Given the description of an element on the screen output the (x, y) to click on. 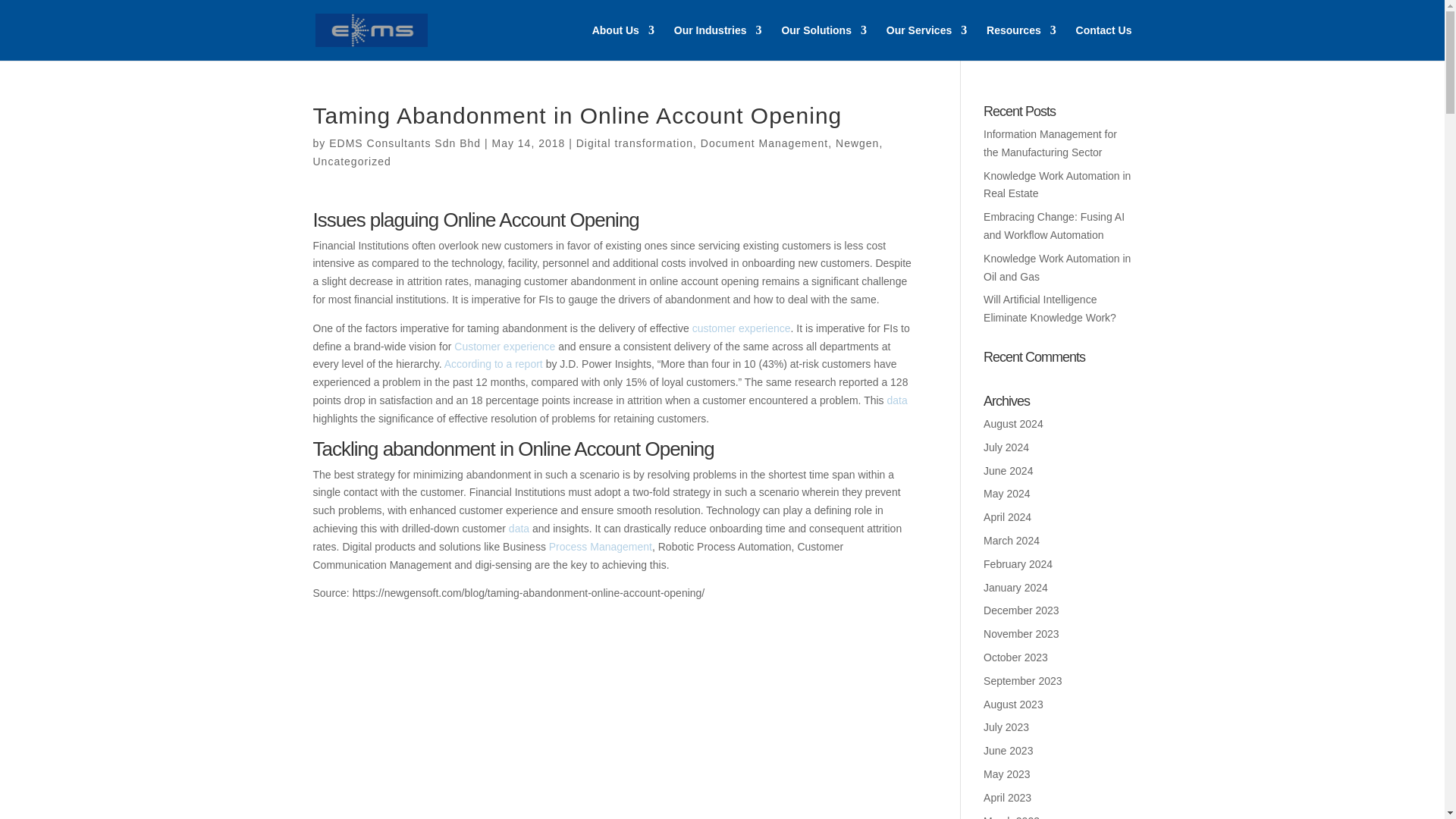
data (896, 399)
About Us (622, 42)
Our Industries (717, 42)
data (518, 528)
Posts by EDMS Consultants Sdn Bhd (404, 143)
Our Solutions (823, 42)
Our Services (926, 42)
Resources (1022, 42)
Contact Us (1103, 42)
